Given the description of an element on the screen output the (x, y) to click on. 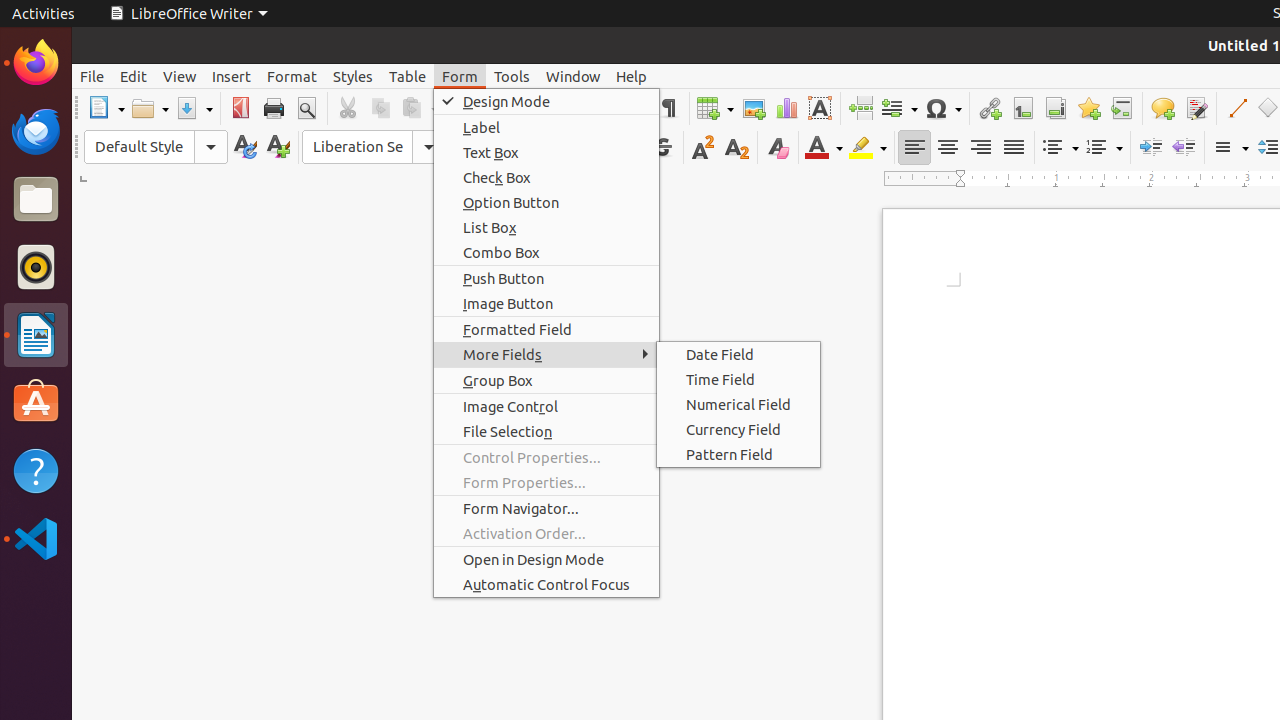
View Element type: menu (179, 76)
Form Properties... Element type: menu-item (546, 482)
Italic Element type: toggle-button (596, 147)
Currency Field Element type: check-menu-item (738, 429)
Paste Element type: push-button (419, 108)
